Given the description of an element on the screen output the (x, y) to click on. 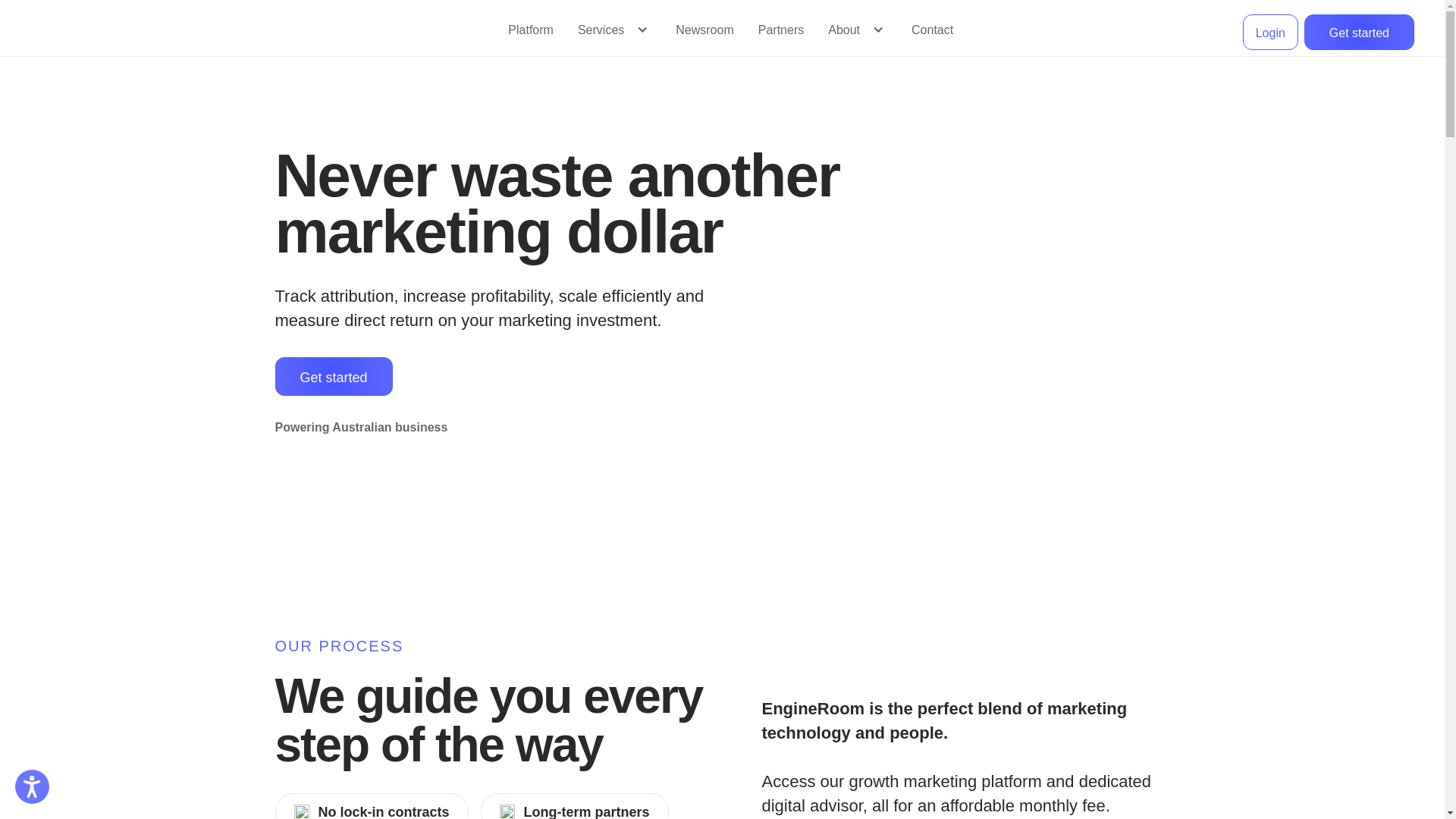
Newsroom Element type: text (704, 31)
Services Element type: text (600, 38)
About Element type: text (843, 38)
Login Element type: text (1270, 32)
Partners Element type: text (780, 31)
Get started Element type: text (1359, 32)
Contact Element type: text (932, 31)
Platform Element type: text (530, 31)
Get started Element type: text (333, 376)
